Given the description of an element on the screen output the (x, y) to click on. 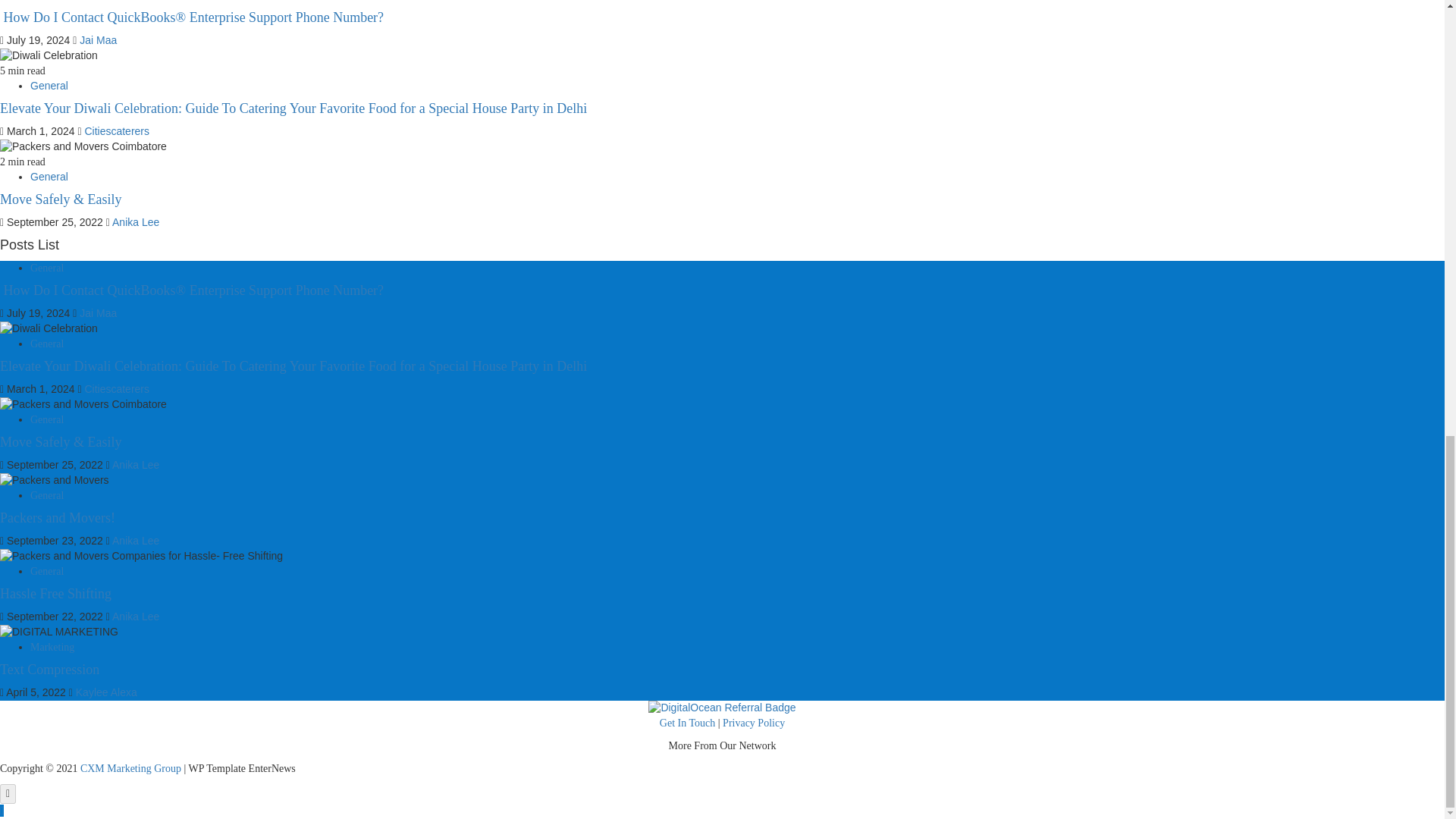
Jai Maa (98, 39)
General (49, 85)
Citiescaterers (116, 131)
General (49, 176)
Anika Lee (135, 222)
